Given the description of an element on the screen output the (x, y) to click on. 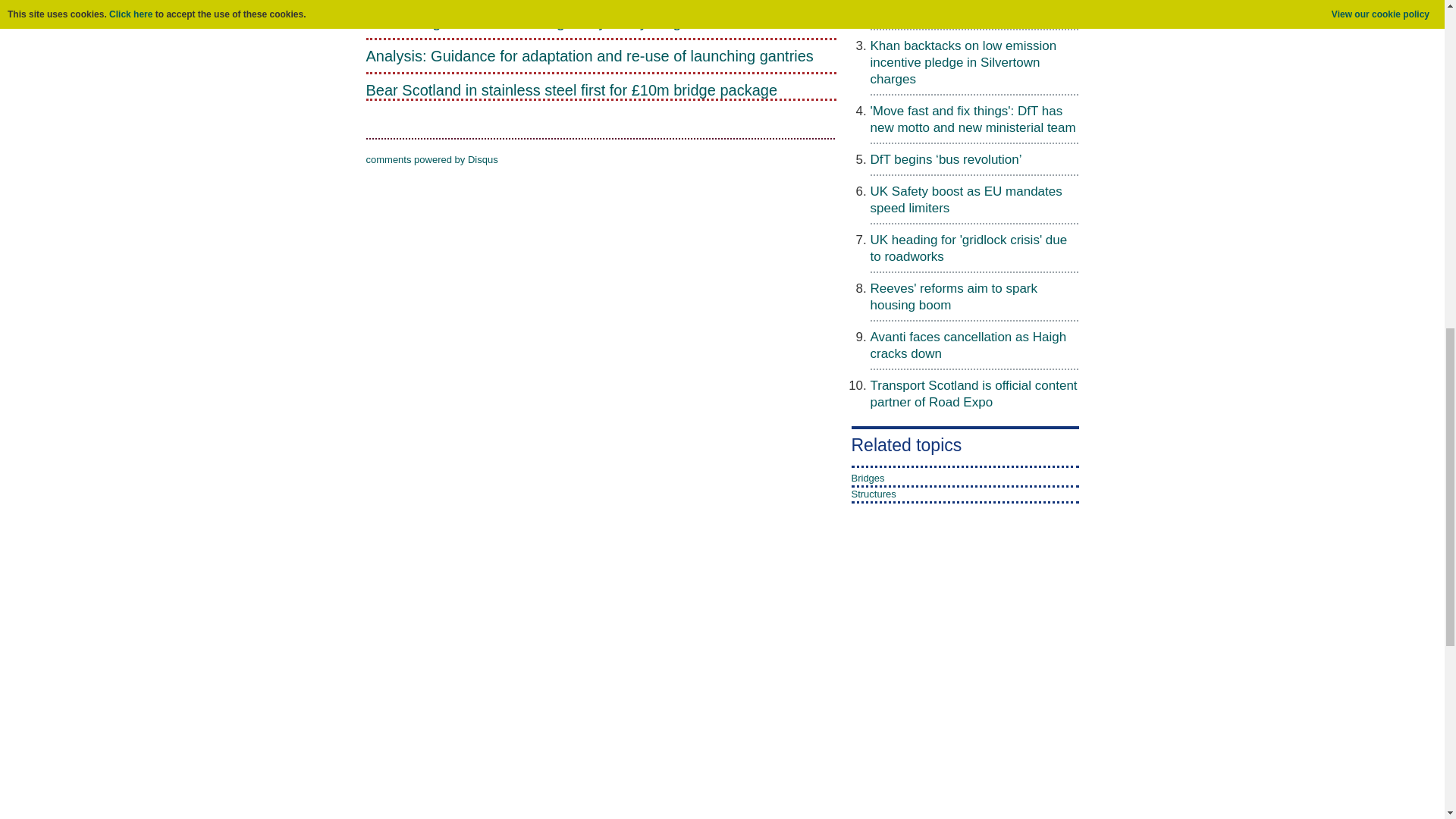
comments powered by Disqus (431, 159)
Forth Bridge celebrates being 125 years young (600, 21)
3rd party ad content (721, 801)
3rd party ad content (907, 686)
Gething puts bus franching bill top of the agenda (967, 10)
